Given the description of an element on the screen output the (x, y) to click on. 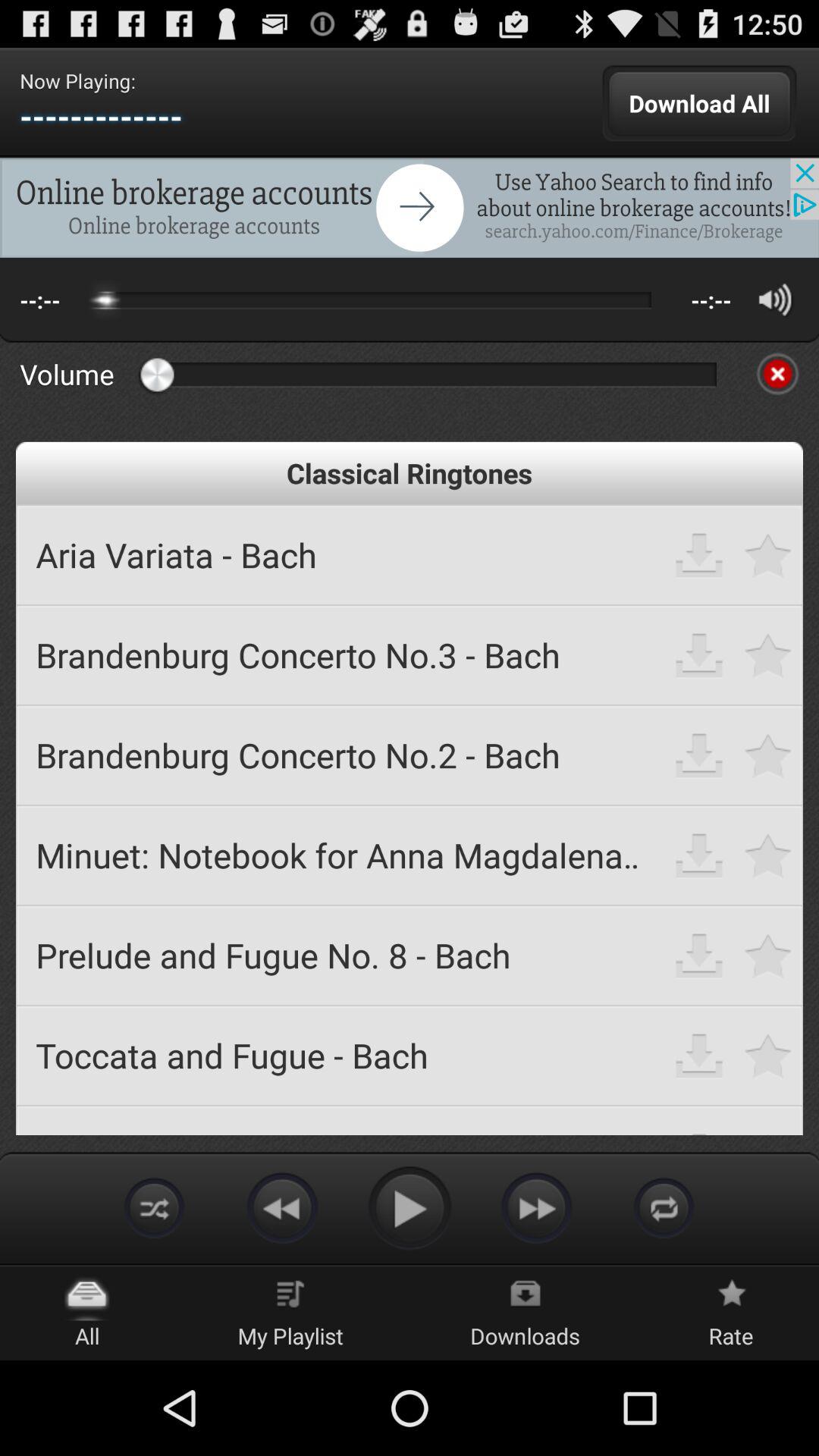
add to favourites (768, 754)
